Given the description of an element on the screen output the (x, y) to click on. 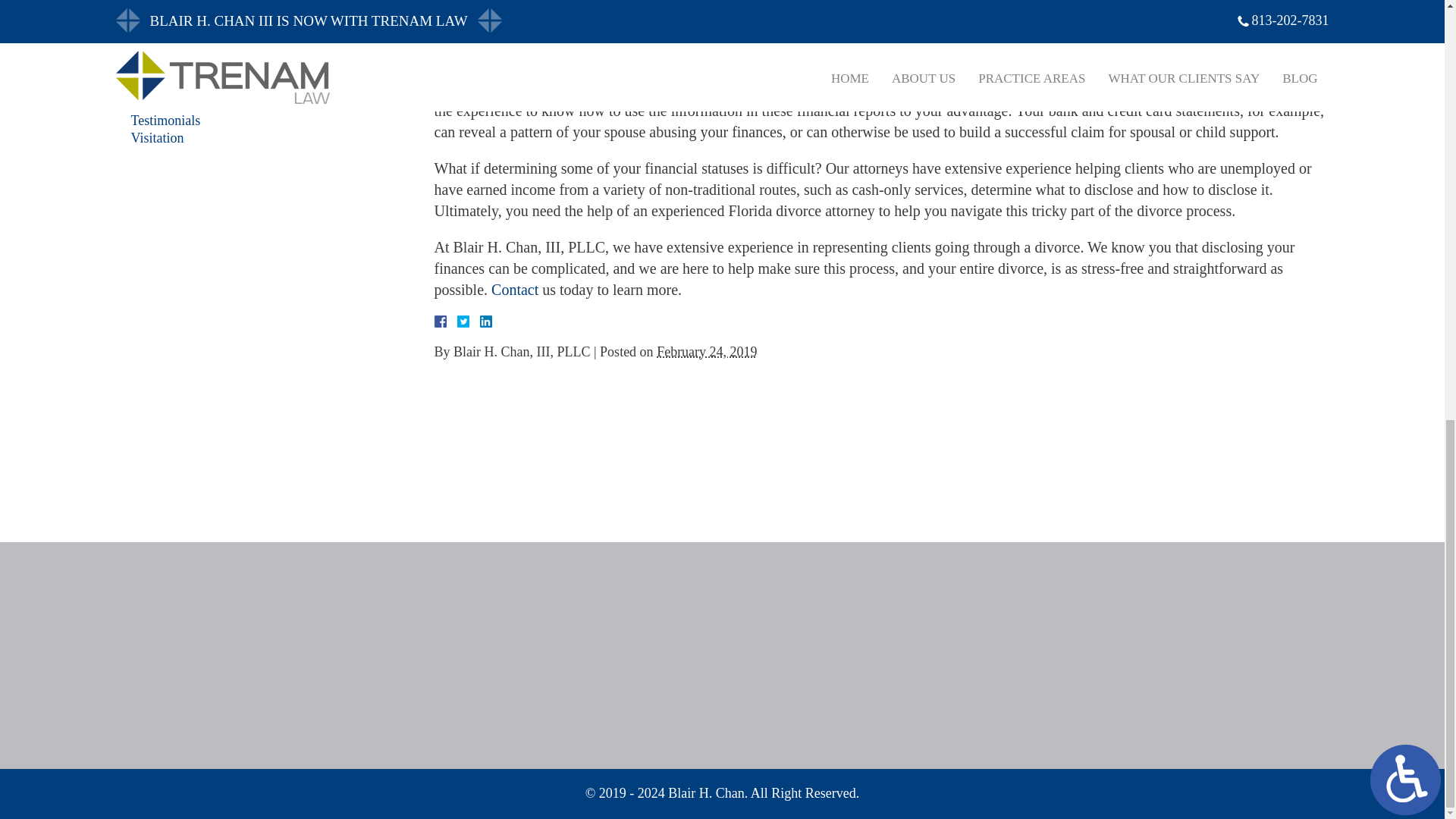
Contact (515, 289)
Facebook (457, 321)
LinkedIn (478, 321)
2019-02-24T13:27:49-0800 (706, 351)
Twitter (468, 321)
